Given the description of an element on the screen output the (x, y) to click on. 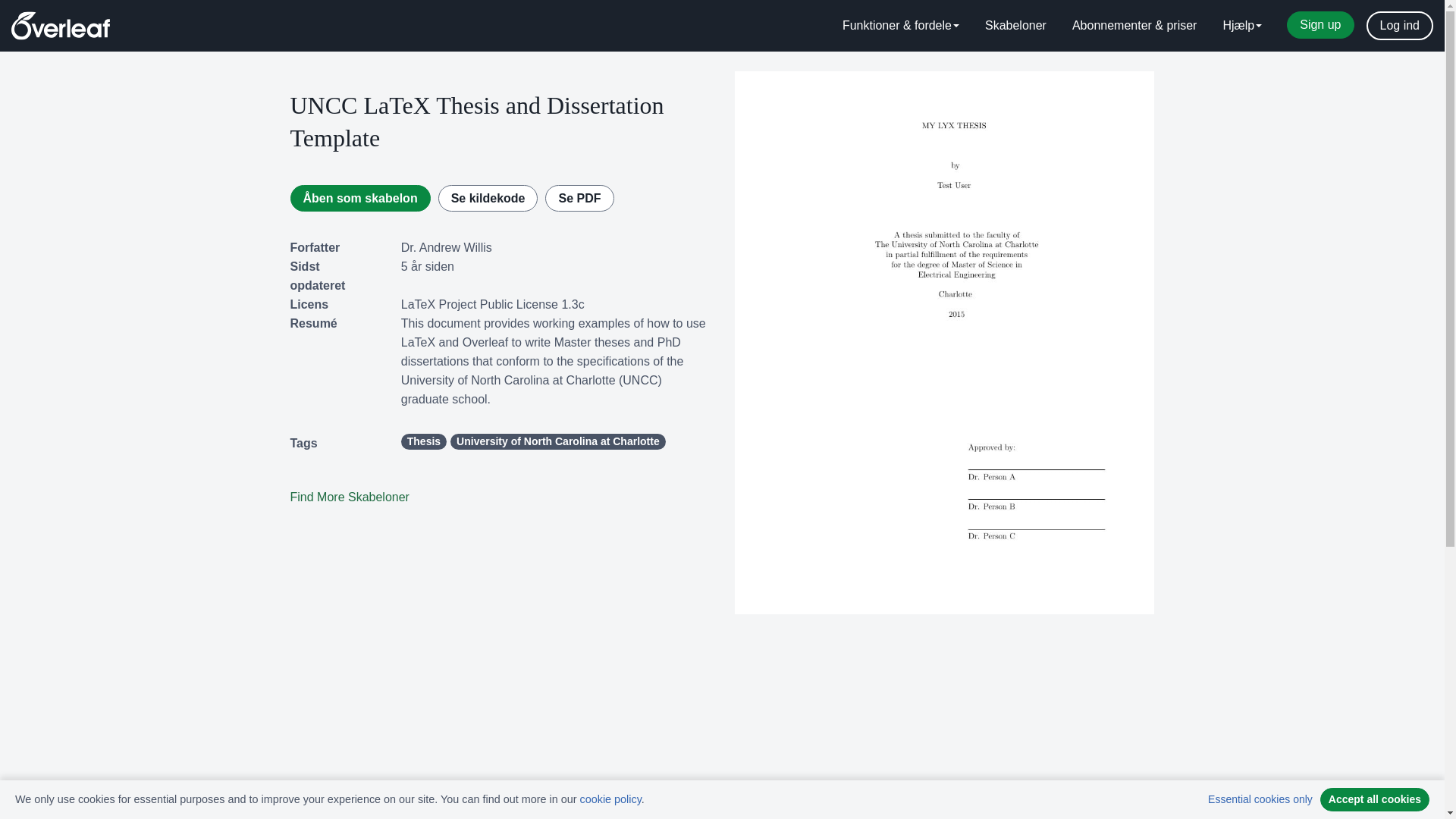
Thesis (423, 441)
University of North Carolina at Charlotte (557, 441)
Sign up (1320, 24)
Skabeloner (1015, 25)
Find More Skabeloner (349, 496)
Se PDF (578, 198)
Log ind (1400, 25)
Se kildekode (488, 198)
